Given the description of an element on the screen output the (x, y) to click on. 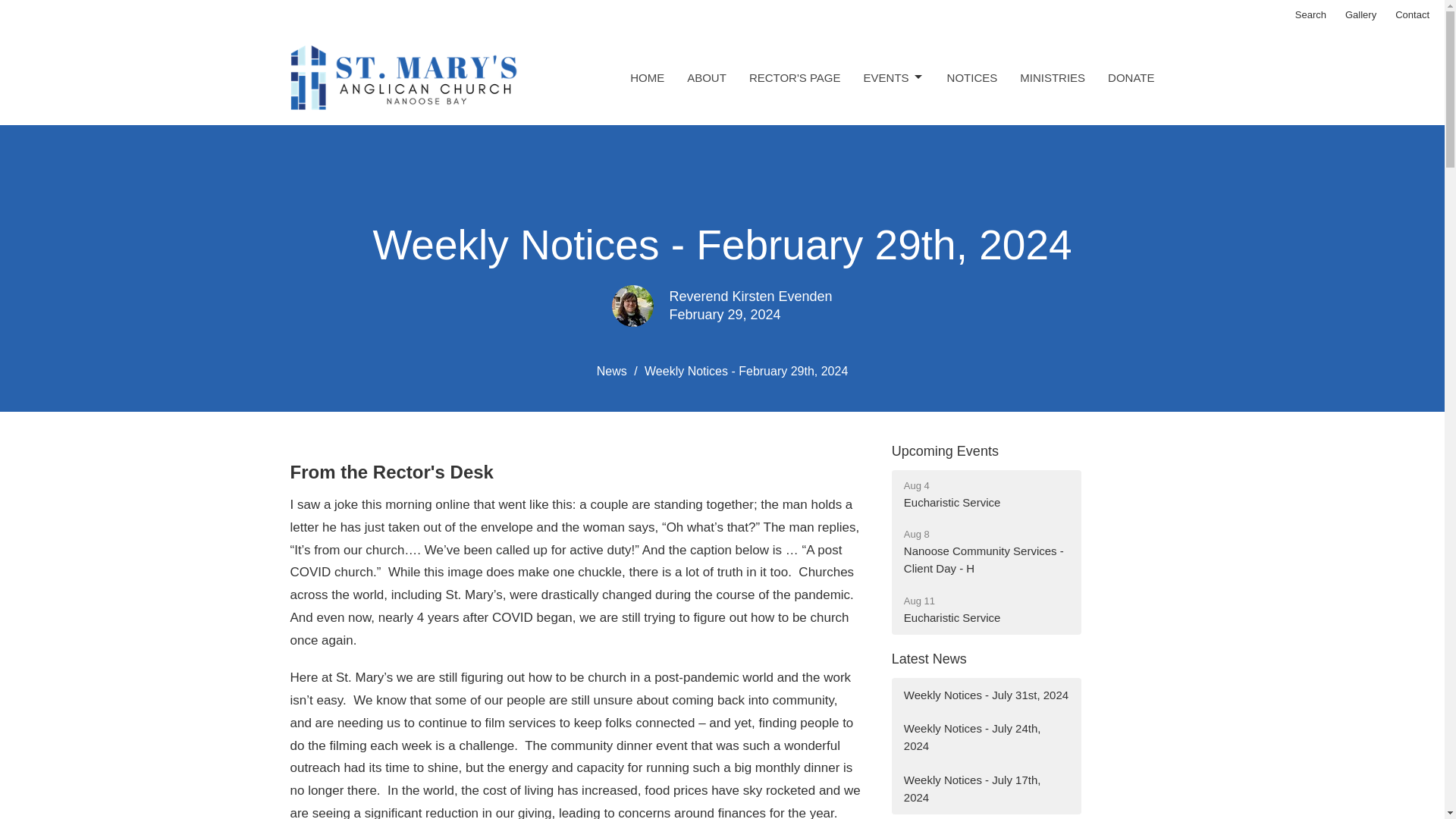
Search (1310, 15)
RECTOR'S PAGE (795, 77)
MINISTRIES (1052, 77)
Latest News (928, 658)
Weekly Notices - July 24th, 2024 (986, 737)
Weekly Notices - July 17th, 2024 (986, 788)
HOME (646, 77)
EVENTS (893, 77)
Gallery (986, 552)
DONATE (1361, 15)
ABOUT (1131, 77)
Upcoming Events (986, 494)
